Given the description of an element on the screen output the (x, y) to click on. 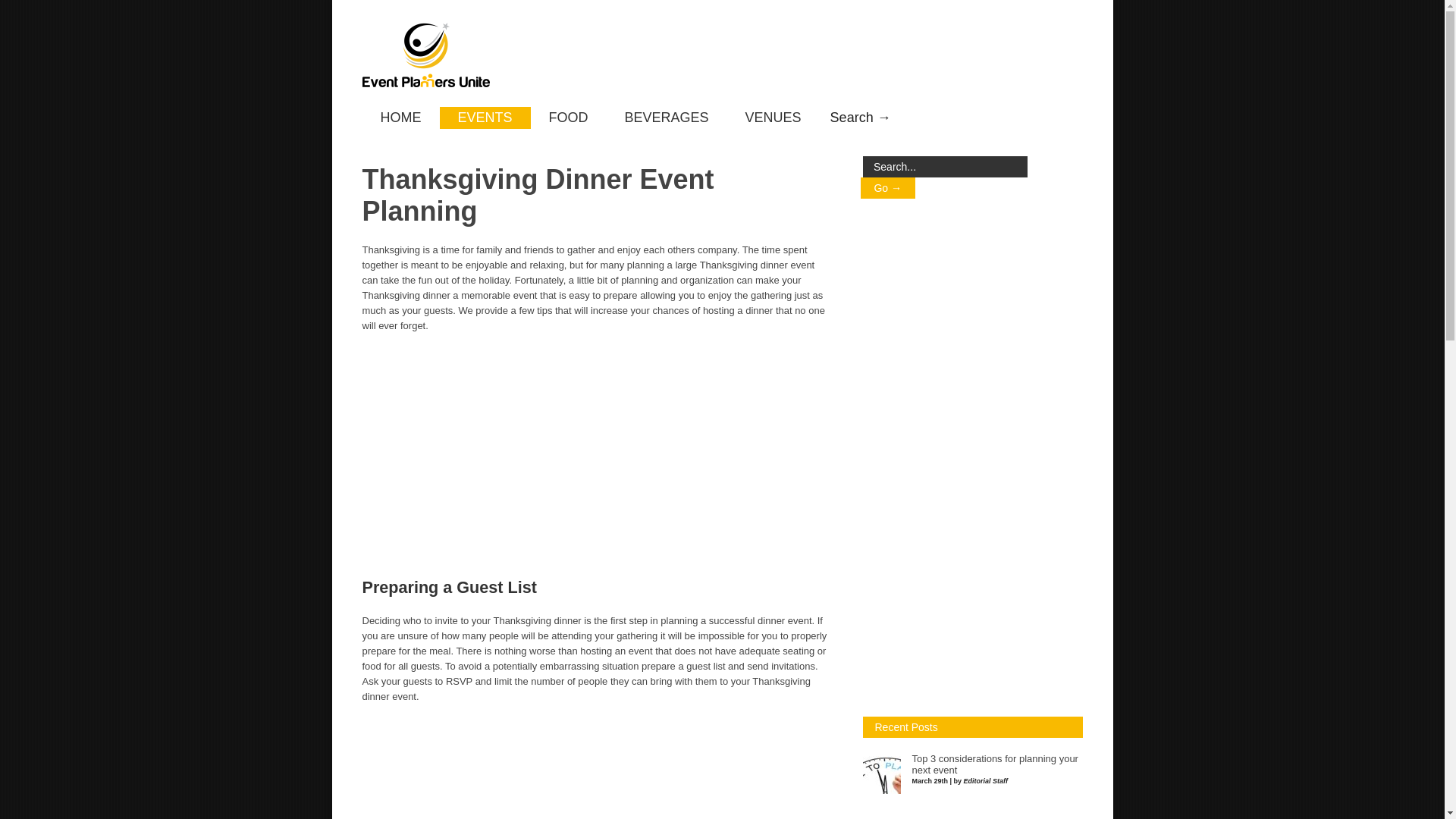
EVENTS (485, 117)
Top 3 considerations for planning your next event (994, 764)
FOOD (569, 117)
Search... (945, 166)
Advertisement (597, 454)
Advertisement (976, 456)
How to Plan a Successful Thanksgiving Dinner (967, 818)
Search... (945, 166)
HOME (400, 117)
